Given the description of an element on the screen output the (x, y) to click on. 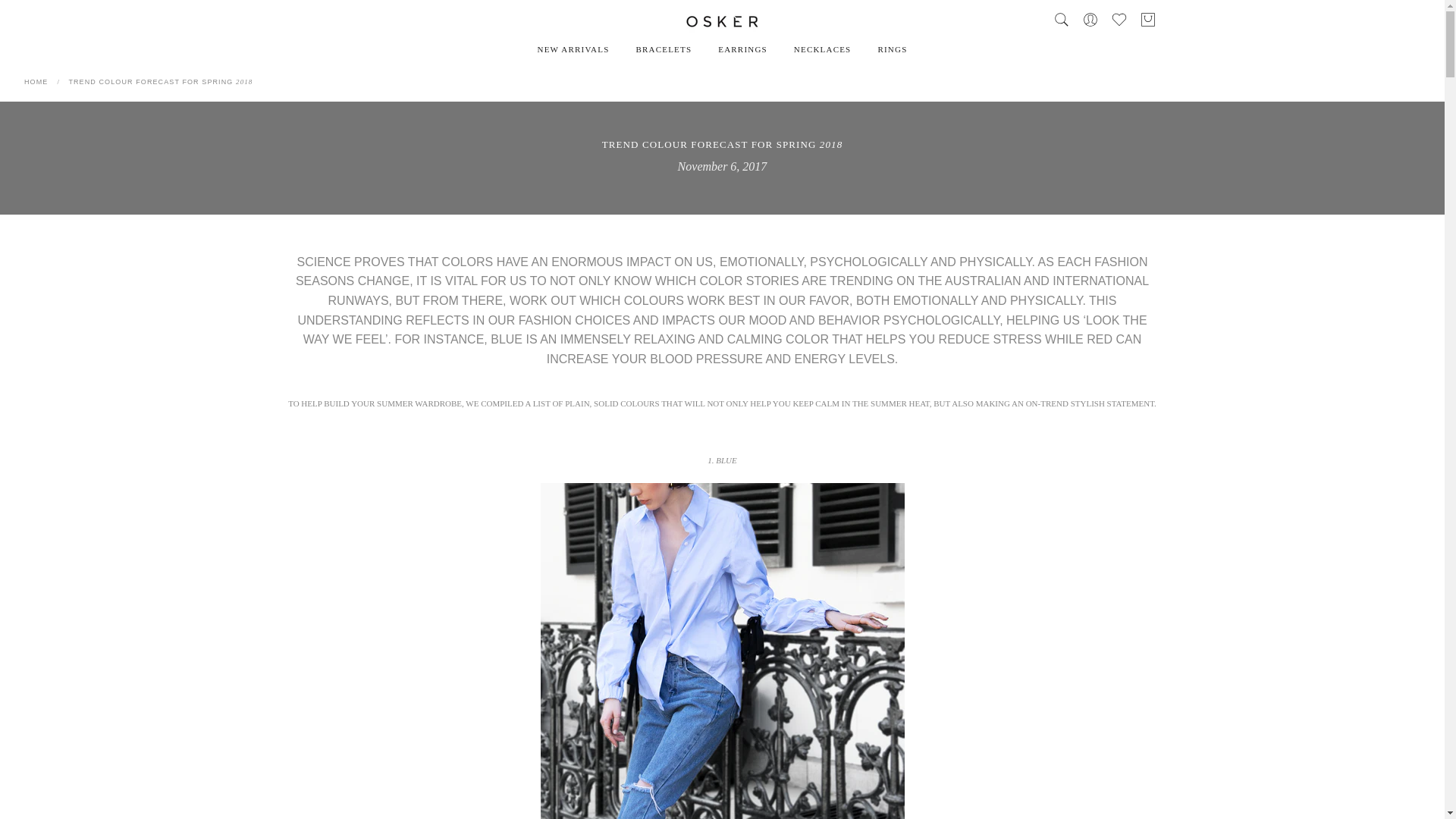
TREND COLOUR FORECAST FOR SPRING 2018 (159, 81)
NEW ARRIVALS (573, 49)
HOME (36, 81)
Home (36, 81)
NECKLACES (822, 49)
EARRINGS (742, 49)
Skip to content (10, 7)
BRACELETS (663, 49)
RINGS (892, 49)
